Given the description of an element on the screen output the (x, y) to click on. 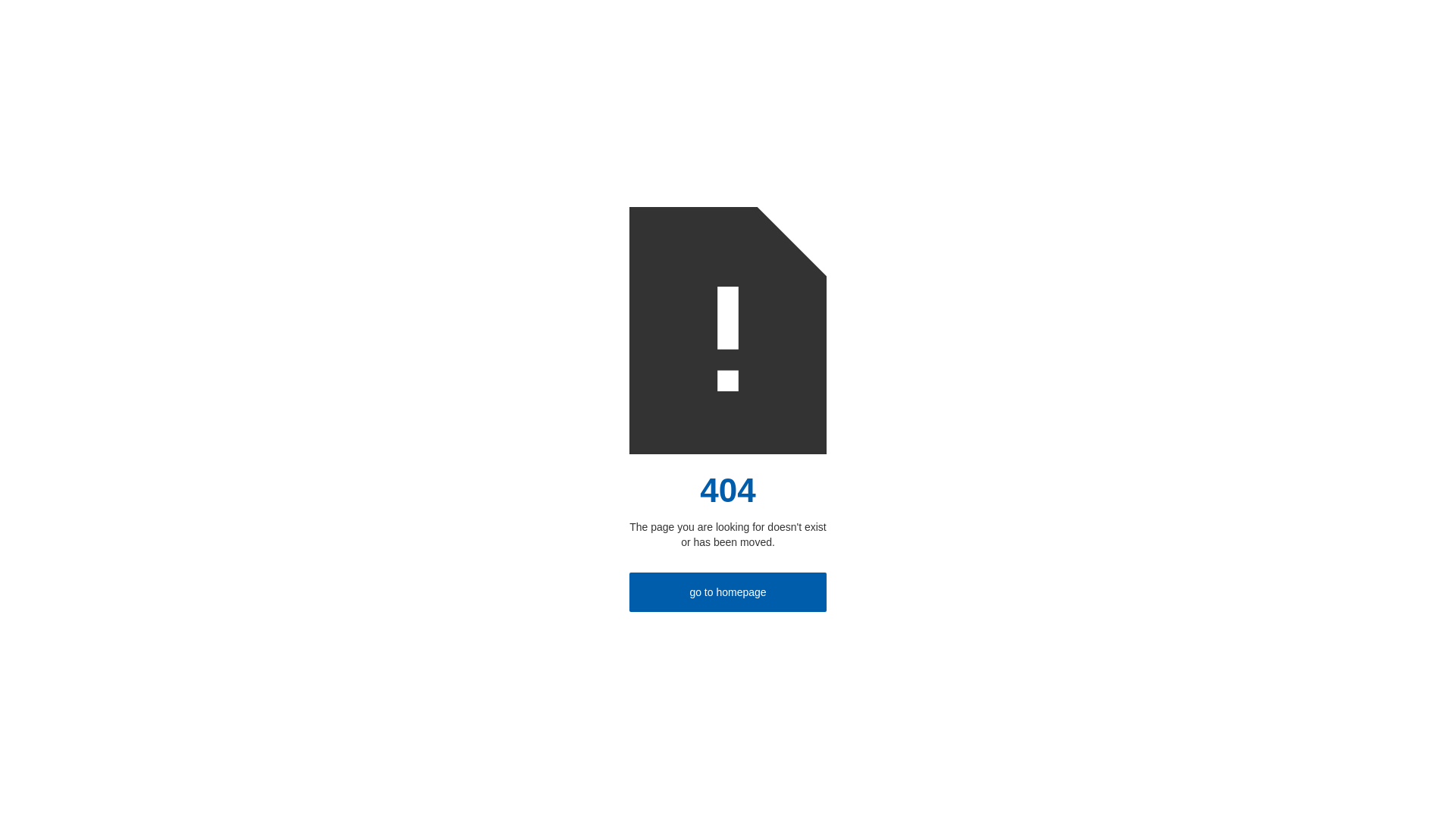
go to homepage Element type: text (727, 591)
